Given the description of an element on the screen output the (x, y) to click on. 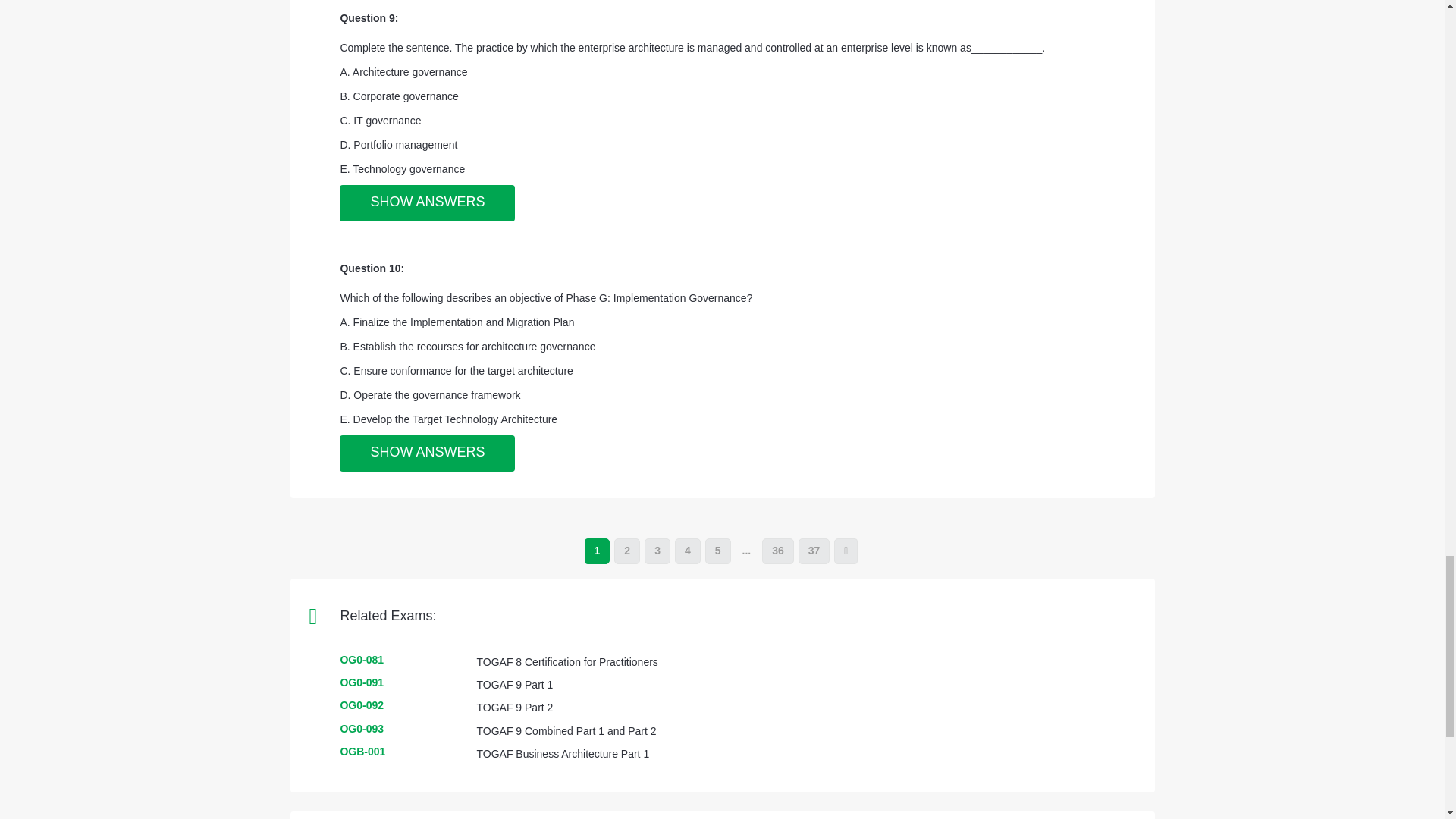
OGB-001 (362, 751)
OG0-092 (361, 705)
TOGAF 8 Certification for Practitioners (567, 662)
TOGAF Business Architecture Part 1 (562, 753)
OG0-091 (361, 682)
TOGAF 9 Combined Part 1 and Part 2 (566, 730)
36 (777, 551)
37 (813, 551)
4 (687, 551)
1 (597, 551)
SHOW ANSWERS (427, 203)
TOGAF 9 Part 1 (514, 684)
OG0-081 (361, 659)
OG0-093 (361, 728)
SHOW ANSWERS (427, 452)
